Given the description of an element on the screen output the (x, y) to click on. 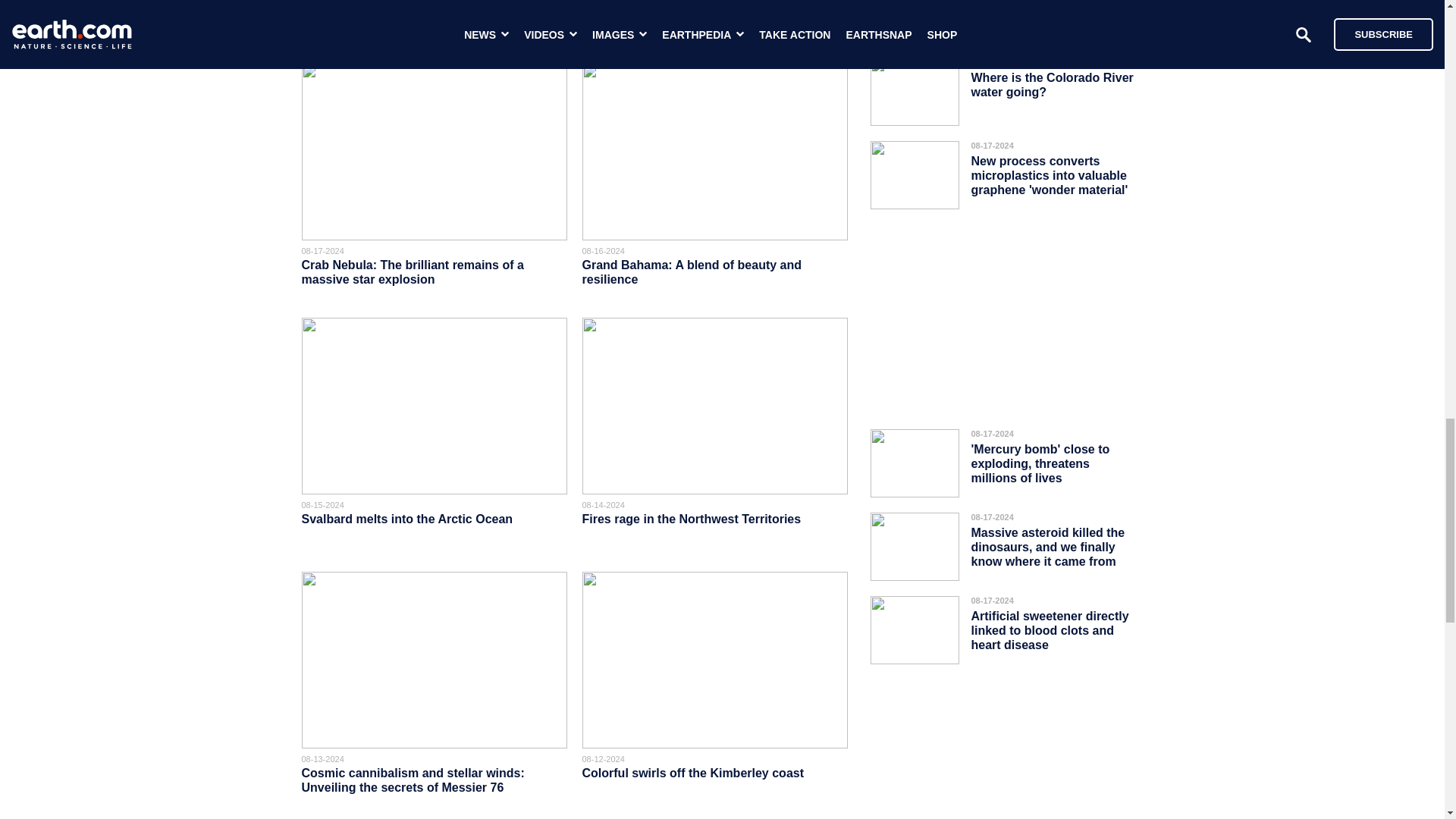
Fires rage in the Northwest Territories  (693, 518)
Svalbard melts into the Arctic Ocean  (408, 518)
Grand Bahama: A blend of beauty and resilience  (692, 271)
Colorful swirls off the Kimberley coast (693, 772)
